Given the description of an element on the screen output the (x, y) to click on. 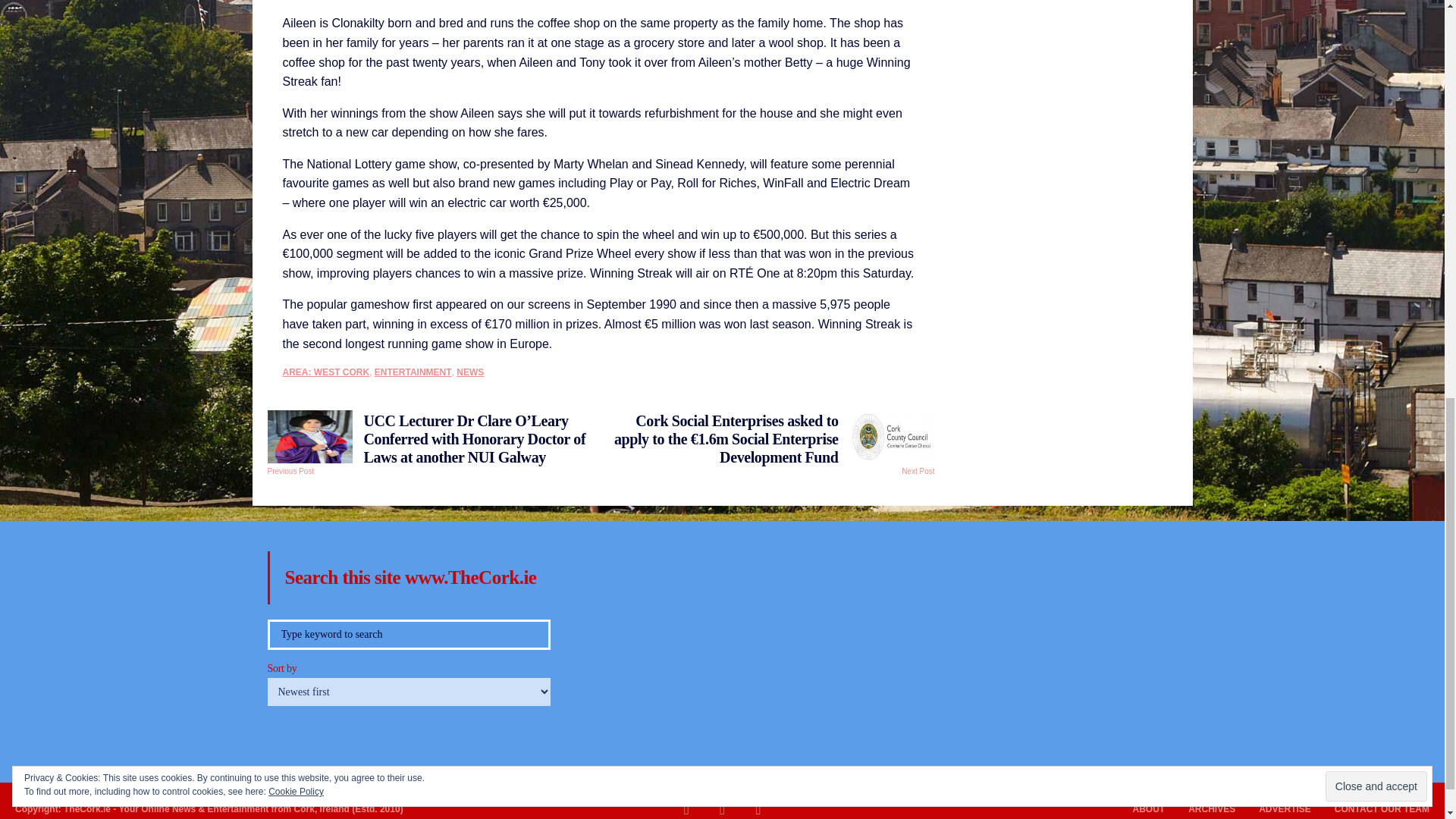
Type keyword to search (408, 634)
Type keyword to search (408, 634)
